Given the description of an element on the screen output the (x, y) to click on. 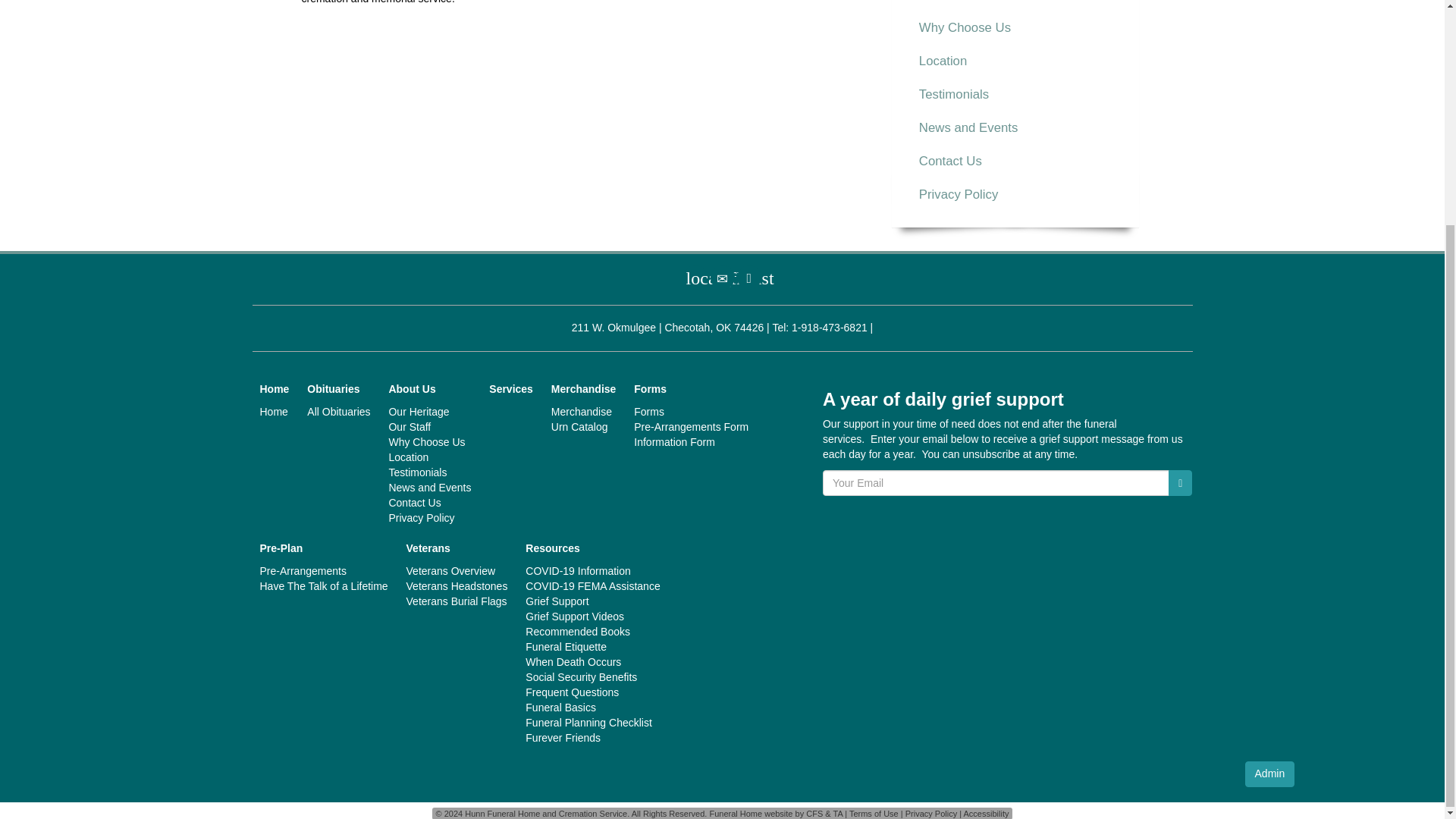
Send Flowers (694, 277)
Directions (748, 277)
Contact Us (721, 277)
